Given the description of an element on the screen output the (x, y) to click on. 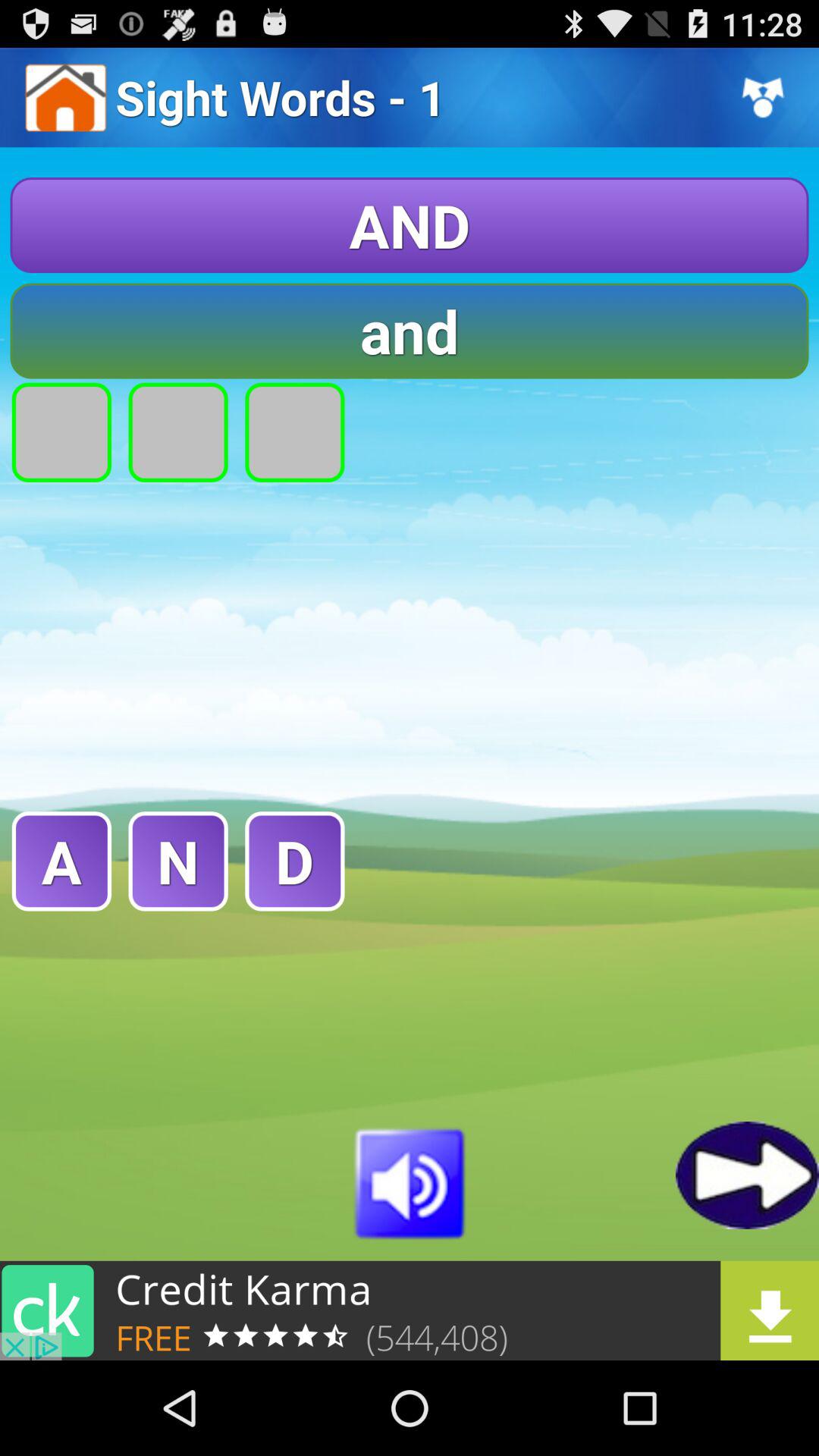
go back (747, 1175)
